Given the description of an element on the screen output the (x, y) to click on. 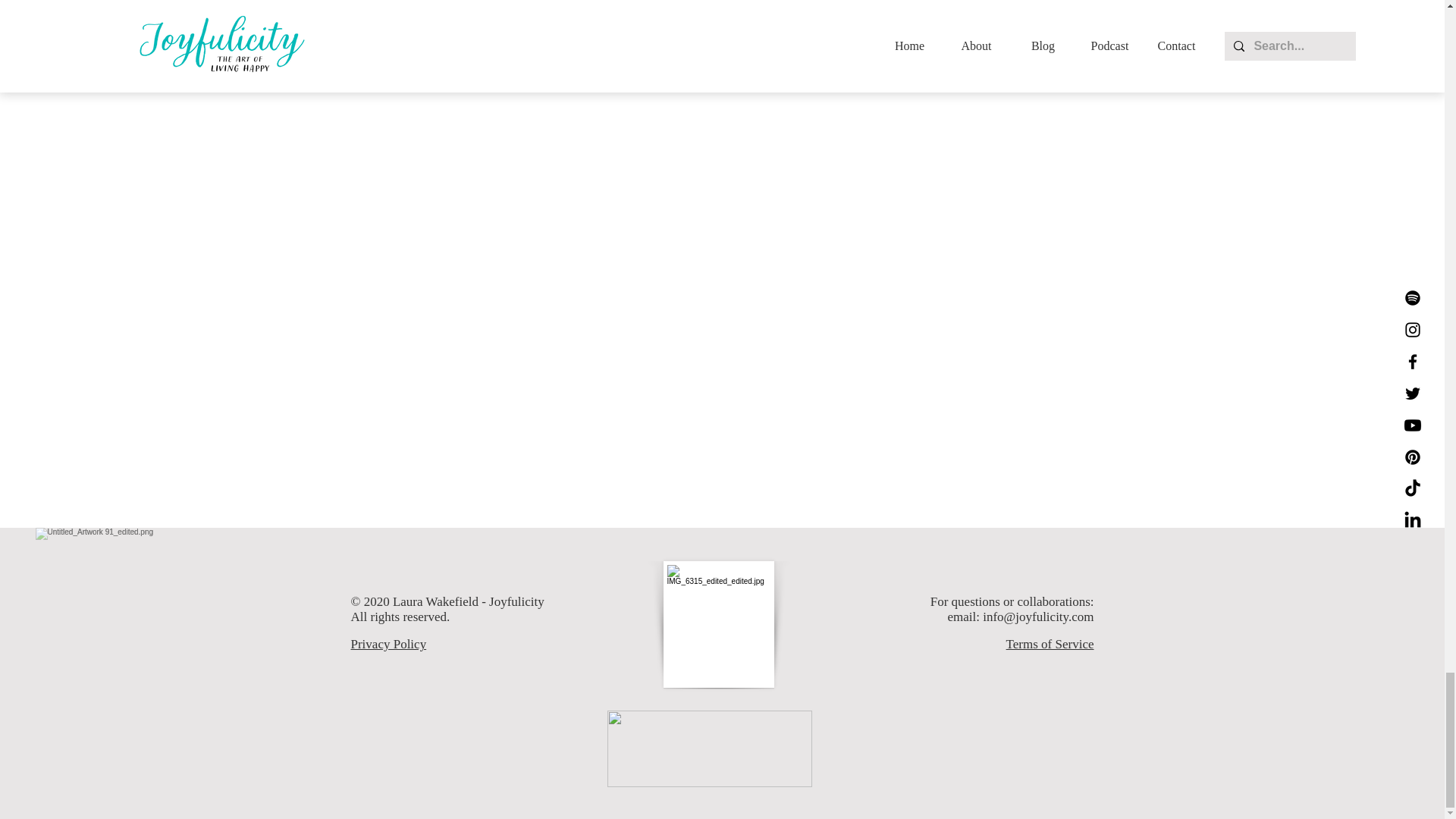
Terms of Service (1050, 644)
Privacy Policy (388, 644)
Joyfulicity logo-08.png (708, 748)
